Given the description of an element on the screen output the (x, y) to click on. 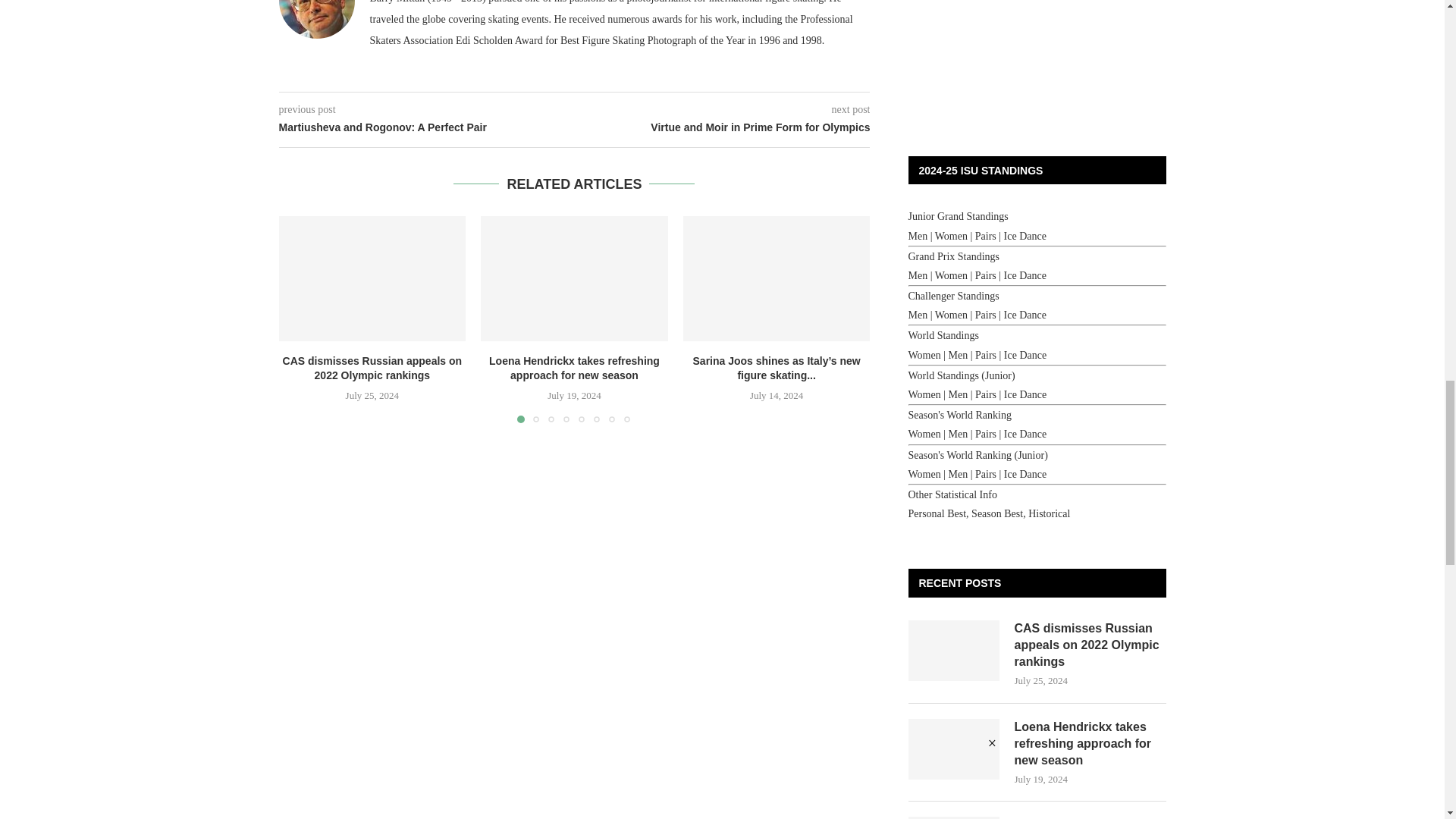
Loena Hendrickx takes refreshing approach for new season (574, 278)
CAS dismisses Russian appeals on 2022 Olympic rankings (372, 278)
